Given the description of an element on the screen output the (x, y) to click on. 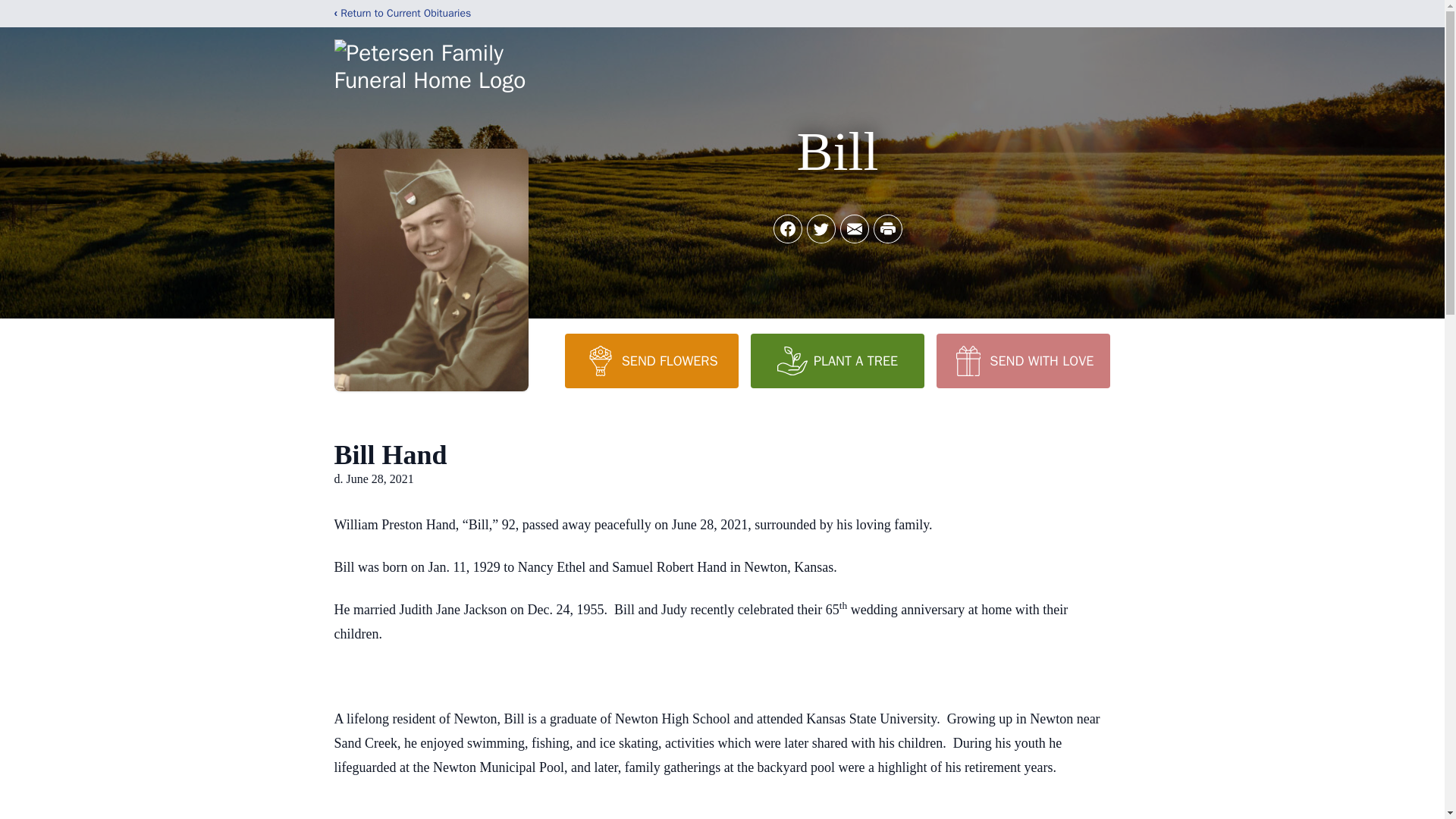
PLANT A TREE (837, 360)
SEND WITH LOVE (1022, 360)
SEND FLOWERS (651, 360)
